Given the description of an element on the screen output the (x, y) to click on. 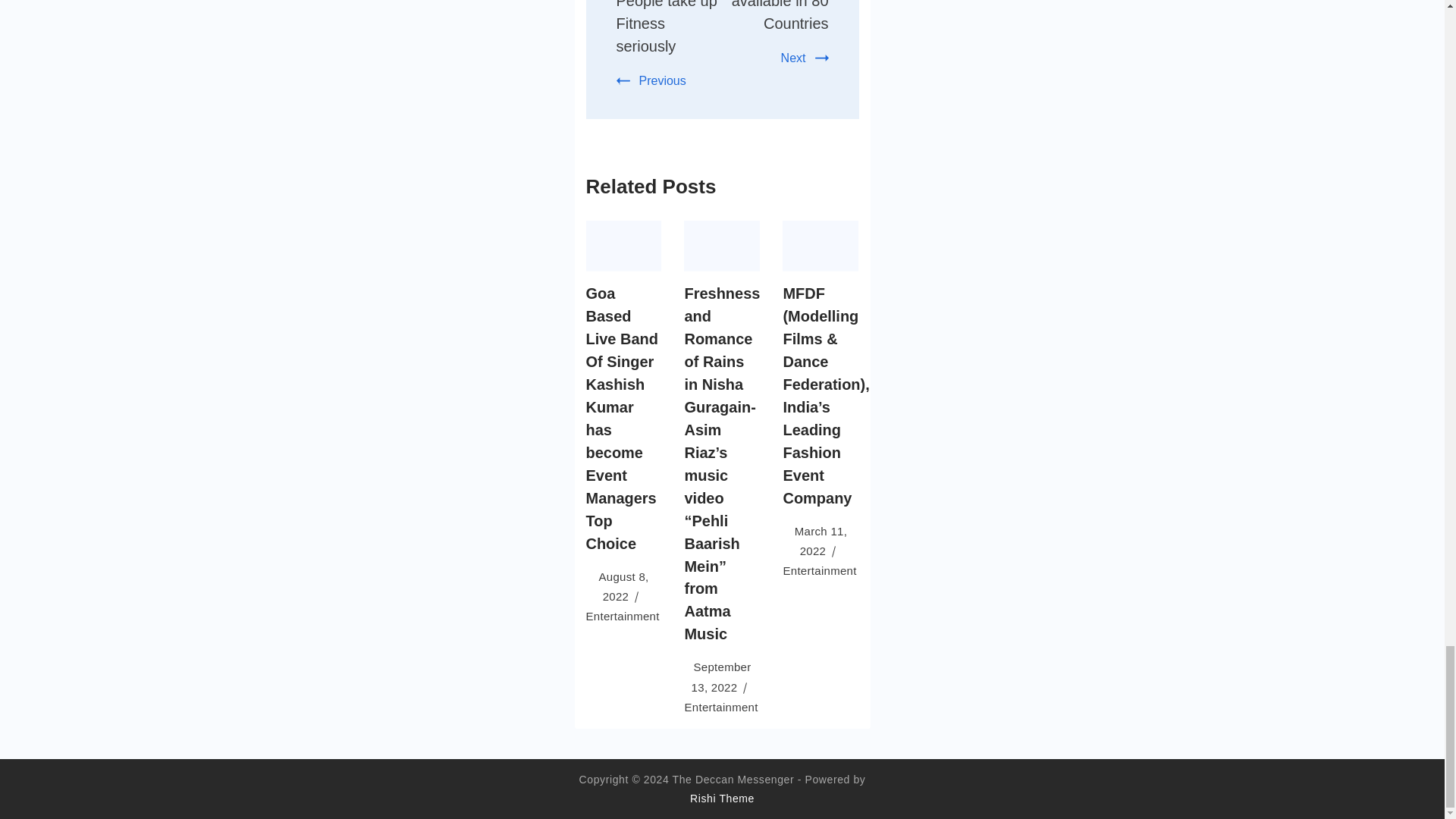
Previous (650, 80)
Entertainment (720, 707)
Rishi Theme (722, 798)
Entertainment (622, 615)
Entertainment (819, 570)
Next (804, 57)
